Given the description of an element on the screen output the (x, y) to click on. 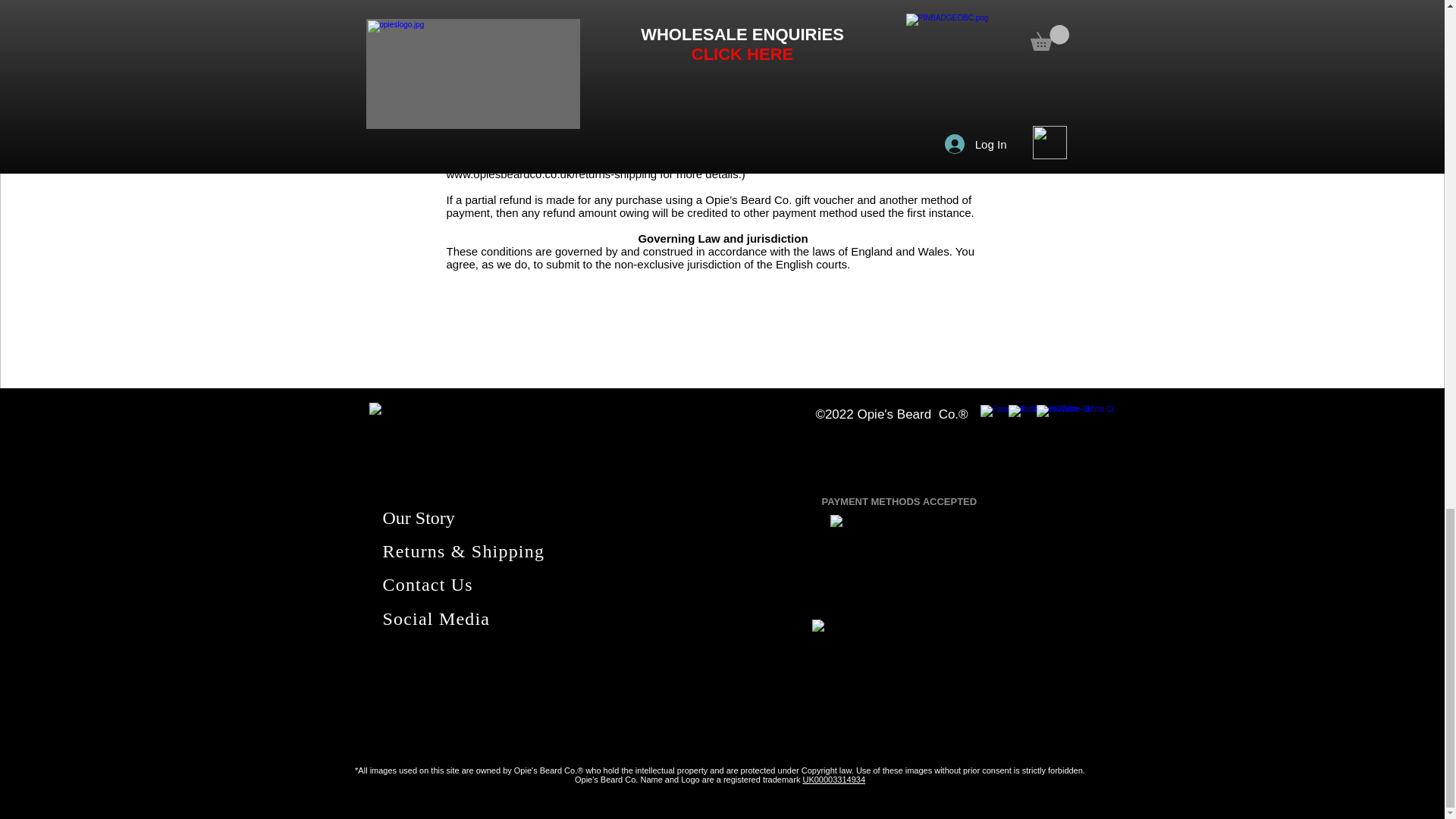
Social Media (435, 618)
Contact Us (426, 584)
UK00003314934 (833, 778)
Shipping (504, 551)
Returns (415, 551)
Our Story (417, 517)
